Given the description of an element on the screen output the (x, y) to click on. 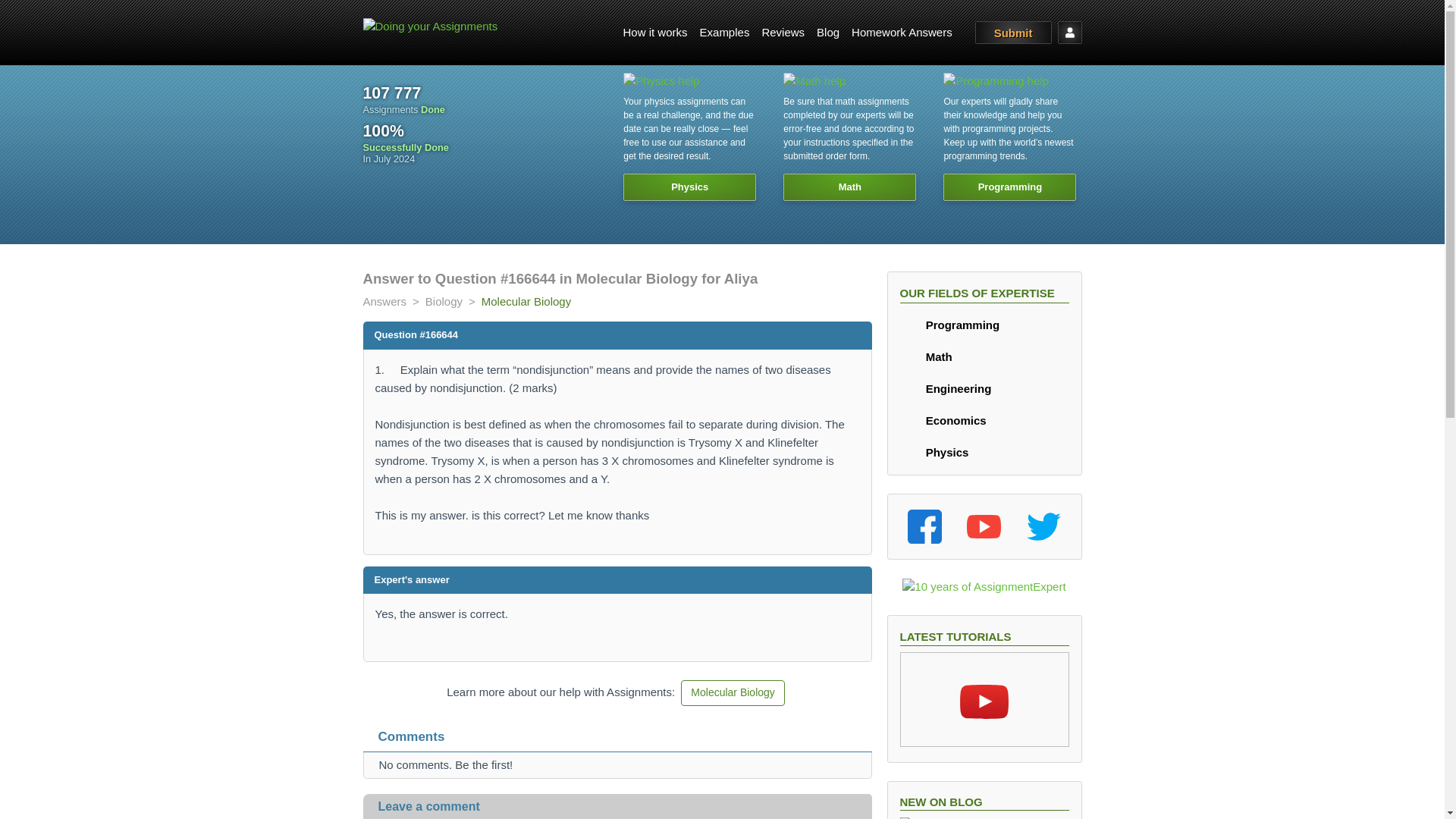
Physics (933, 451)
Assignment Expert on Twitter (1043, 526)
Math (925, 356)
My Account (1069, 32)
How it works (655, 31)
Physics help (689, 135)
Since 2009 (391, 93)
Assignment Expert on Facebook (924, 526)
Engineering (945, 388)
Assignment Expert on YouTube (983, 526)
Biology (444, 300)
Math (925, 356)
Programming help (1009, 135)
Programming (948, 324)
